Given the description of an element on the screen output the (x, y) to click on. 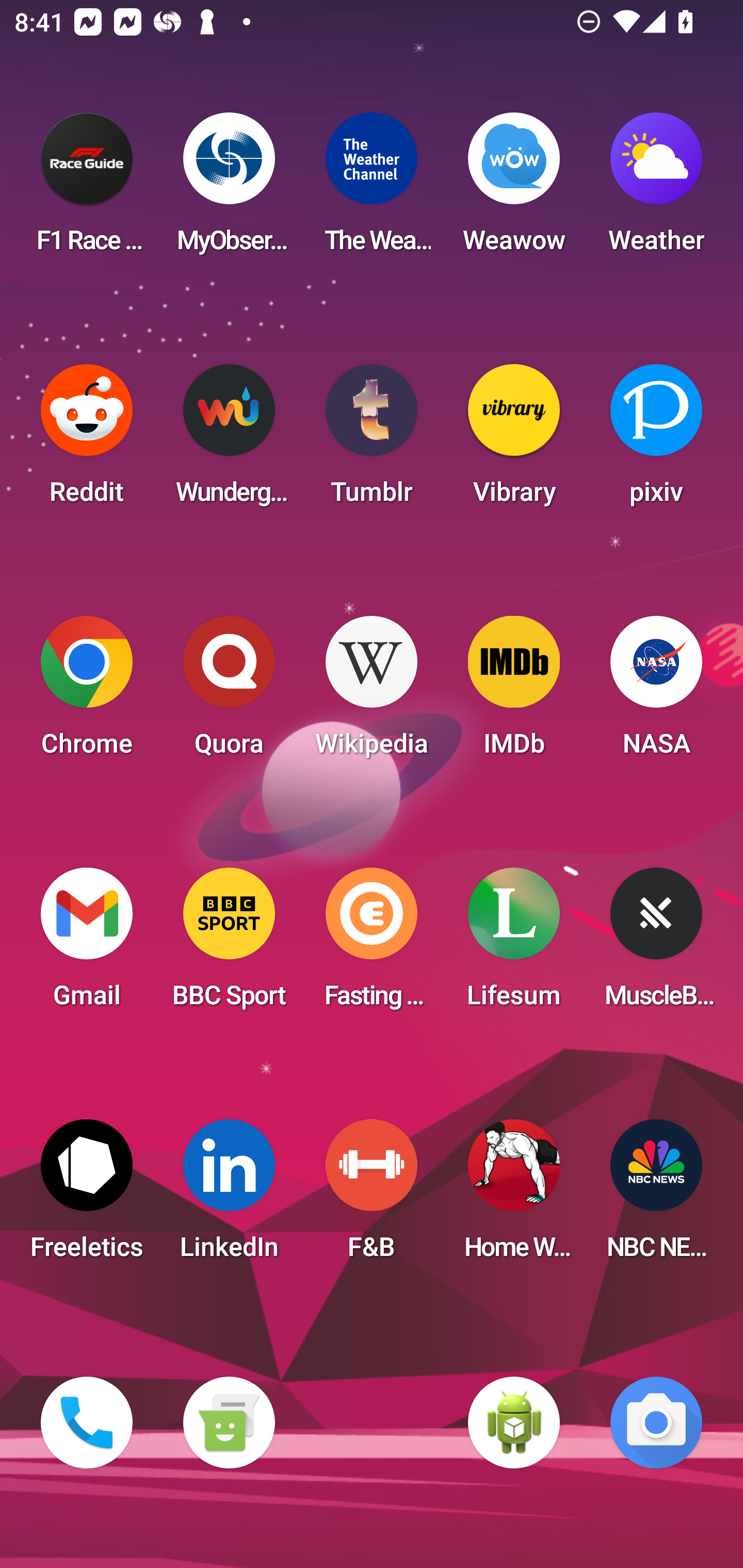
F1 Race Guide (86, 188)
MyObservatory (228, 188)
The Weather Channel (371, 188)
Weawow (513, 188)
Weather (656, 188)
Reddit (86, 440)
Wunderground (228, 440)
Tumblr (371, 440)
Vibrary (513, 440)
pixiv (656, 440)
Chrome (86, 692)
Quora (228, 692)
Wikipedia (371, 692)
IMDb (513, 692)
NASA (656, 692)
Gmail (86, 943)
BBC Sport (228, 943)
Fasting Coach (371, 943)
Lifesum (513, 943)
MuscleBooster (656, 943)
Freeletics (86, 1195)
LinkedIn (228, 1195)
F&B (371, 1195)
Home Workout (513, 1195)
NBC NEWS (656, 1195)
Phone (86, 1422)
Messaging (228, 1422)
WebView Browser Tester (513, 1422)
Camera (656, 1422)
